Given the description of an element on the screen output the (x, y) to click on. 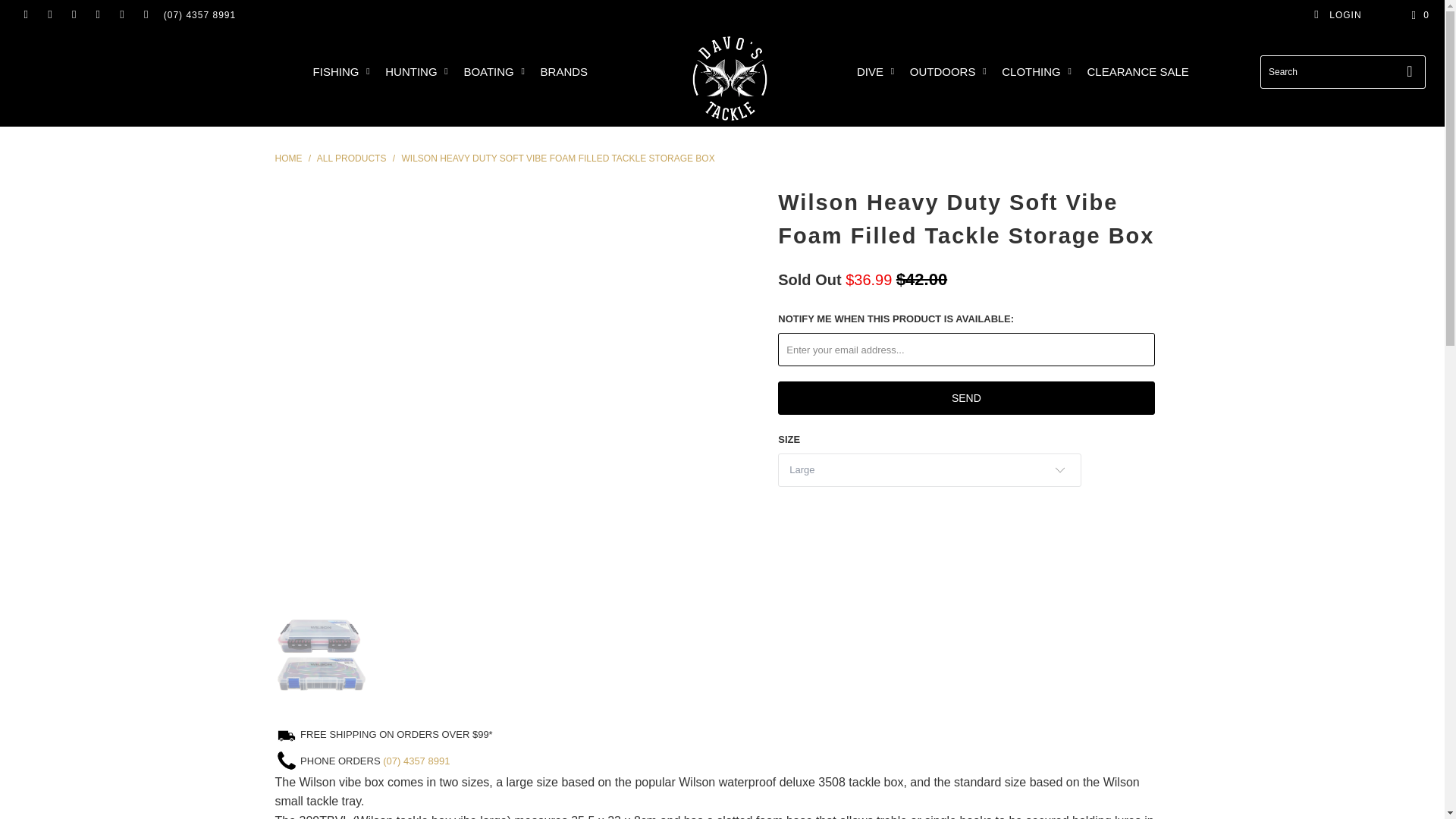
Davo's Tackle Online on Facebook (49, 14)
Davo's Tackle Online (729, 78)
Davo's Tackle Online on Pinterest (96, 14)
Send (965, 397)
Email Davo's Tackle Online (145, 14)
My Account  (1336, 15)
Davo's Tackle Online (288, 158)
Davo's Tackle Online on Instagram (121, 14)
Davo's Tackle Online on Twitter (25, 14)
All Products (352, 158)
